Given the description of an element on the screen output the (x, y) to click on. 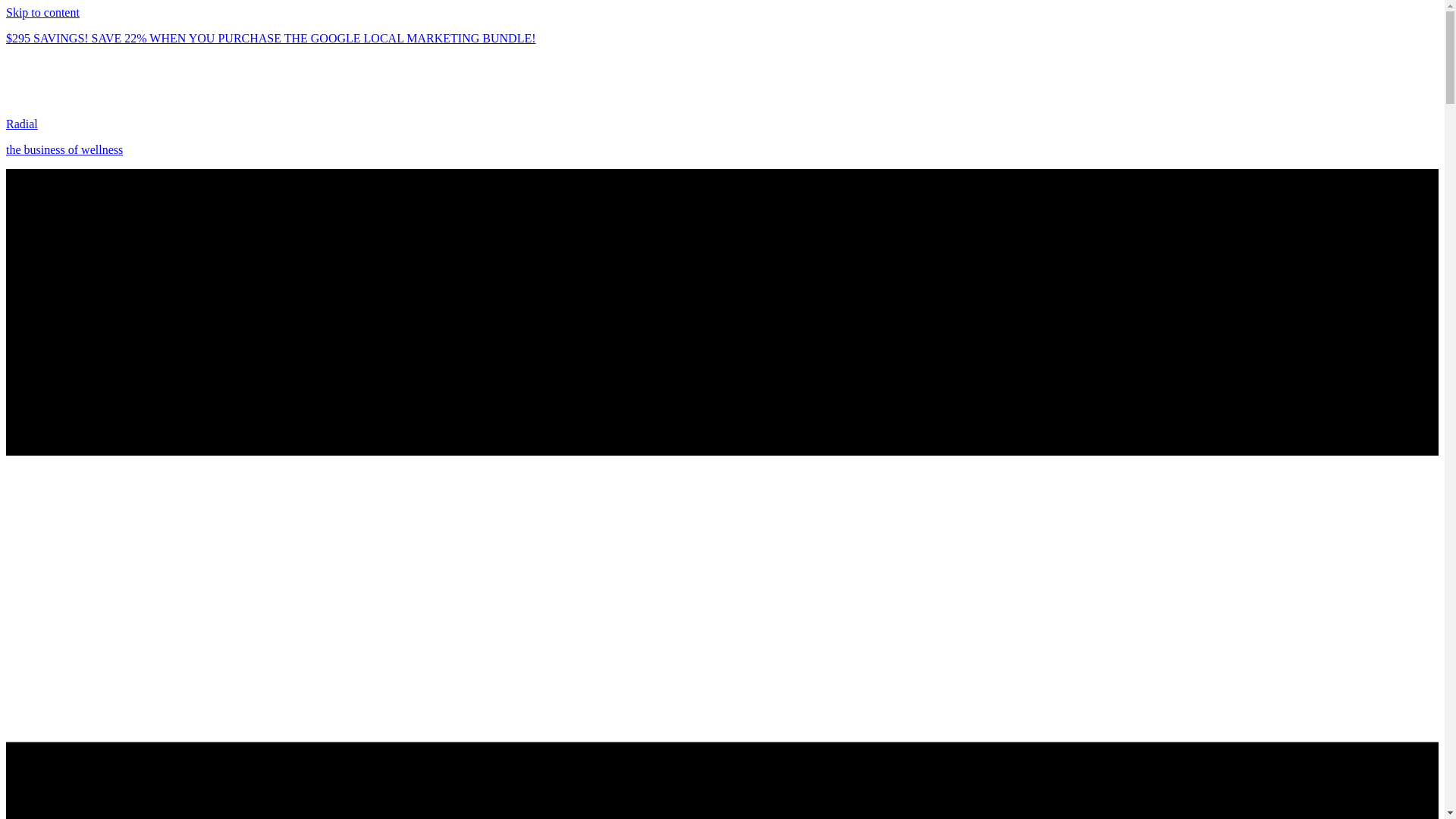
Skip to content (42, 11)
the business of wellness (63, 149)
radial-icon-pixel-perfect (27, 79)
Radial (21, 123)
